Given the description of an element on the screen output the (x, y) to click on. 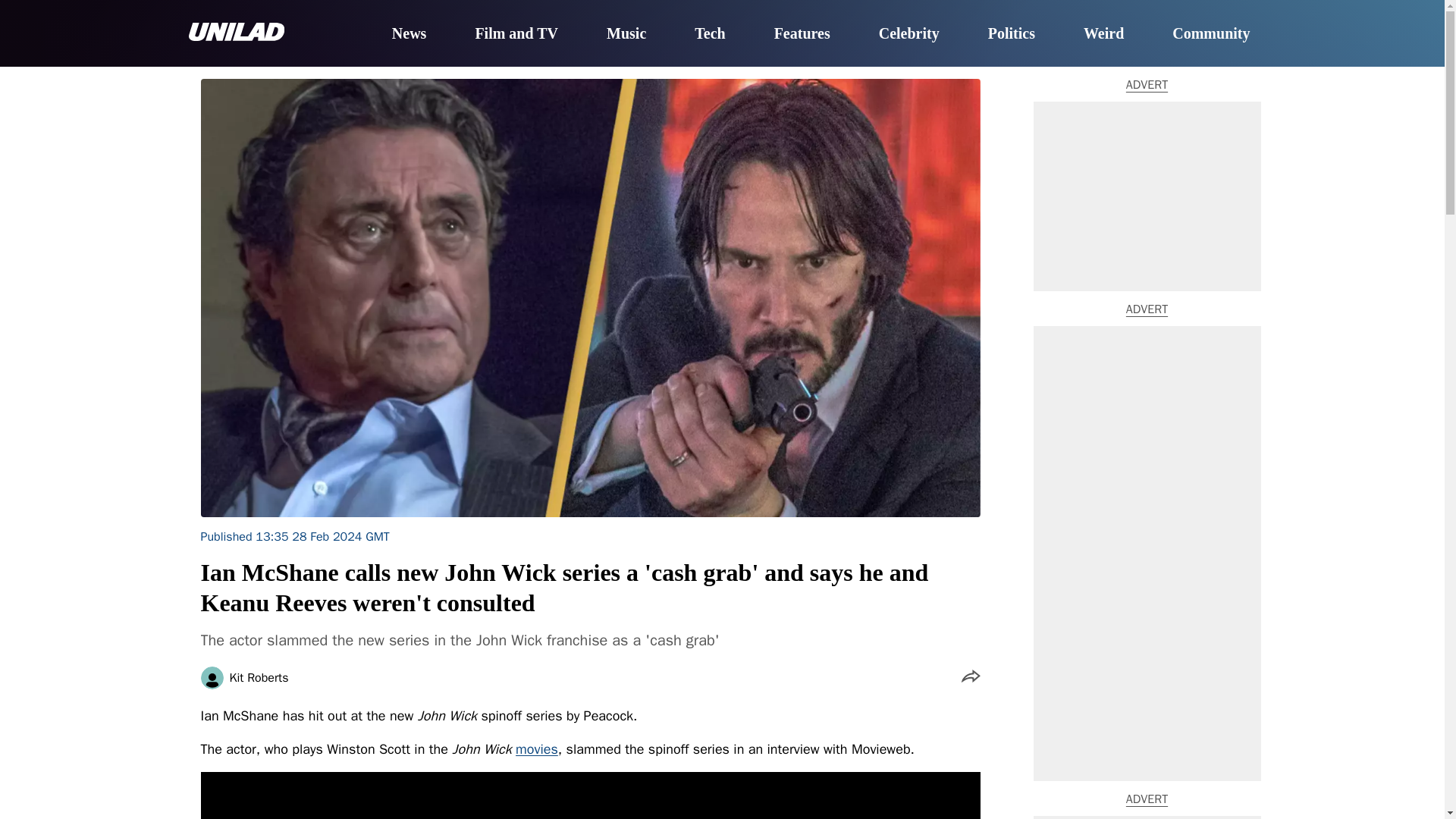
Music (626, 34)
Politics (1011, 34)
Features (801, 34)
Kit Roberts (258, 677)
movies (536, 749)
Film and TV (515, 34)
Tech (709, 34)
Community (1210, 34)
News (408, 34)
Weird (1103, 34)
